Given the description of an element on the screen output the (x, y) to click on. 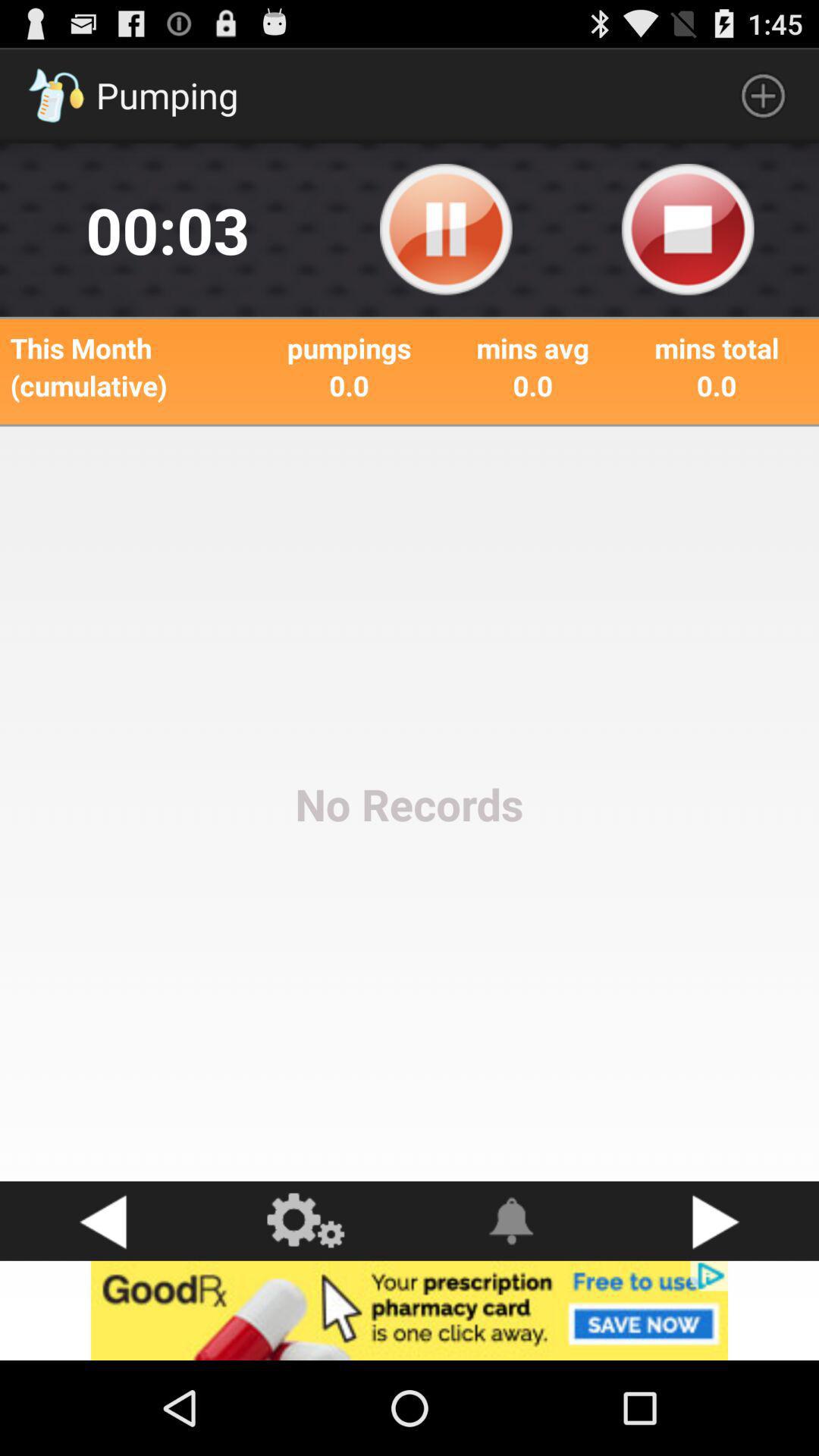
show notifications (511, 1220)
